Given the description of an element on the screen output the (x, y) to click on. 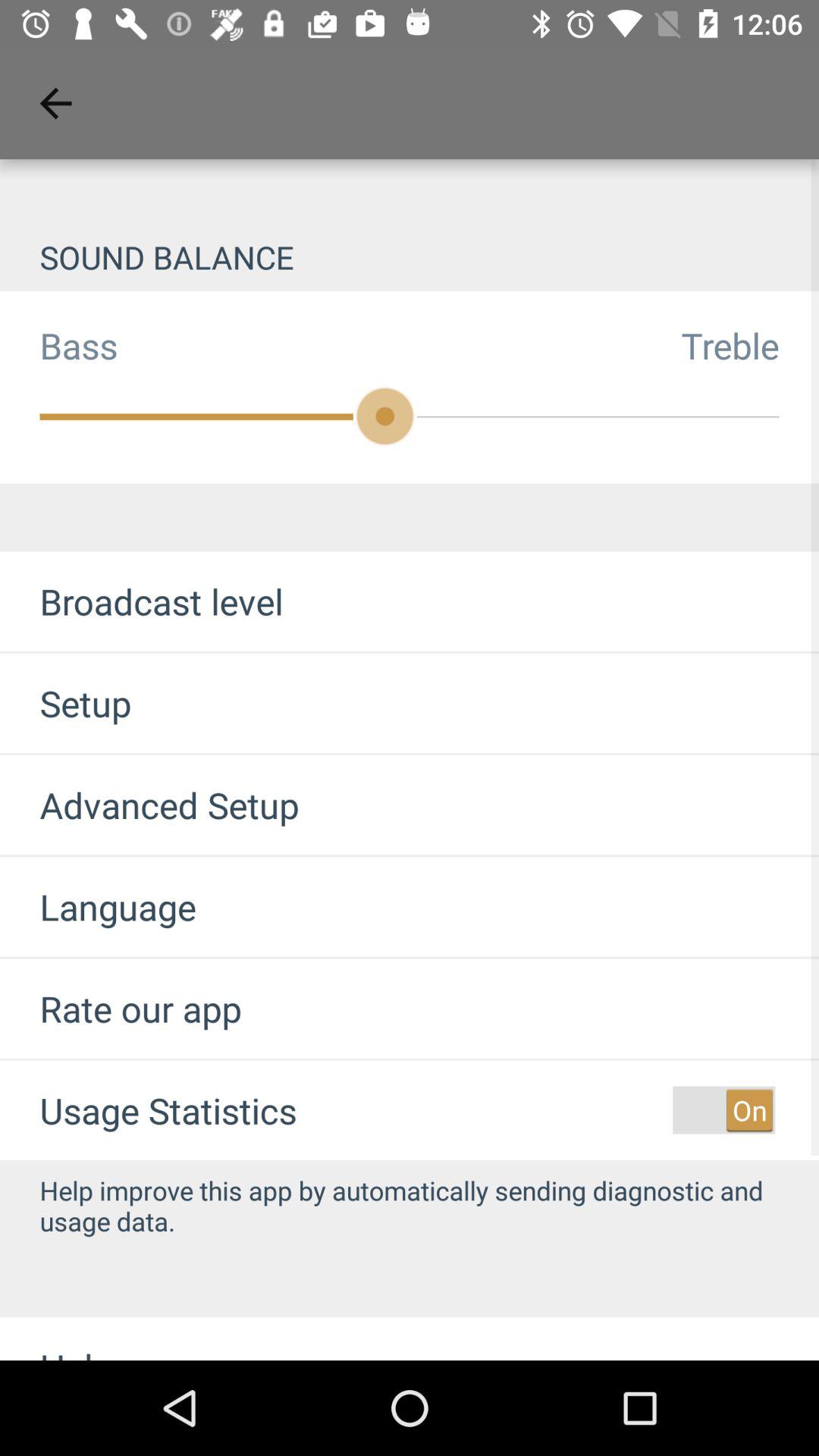
switch button for user statistics (723, 1110)
